Given the description of an element on the screen output the (x, y) to click on. 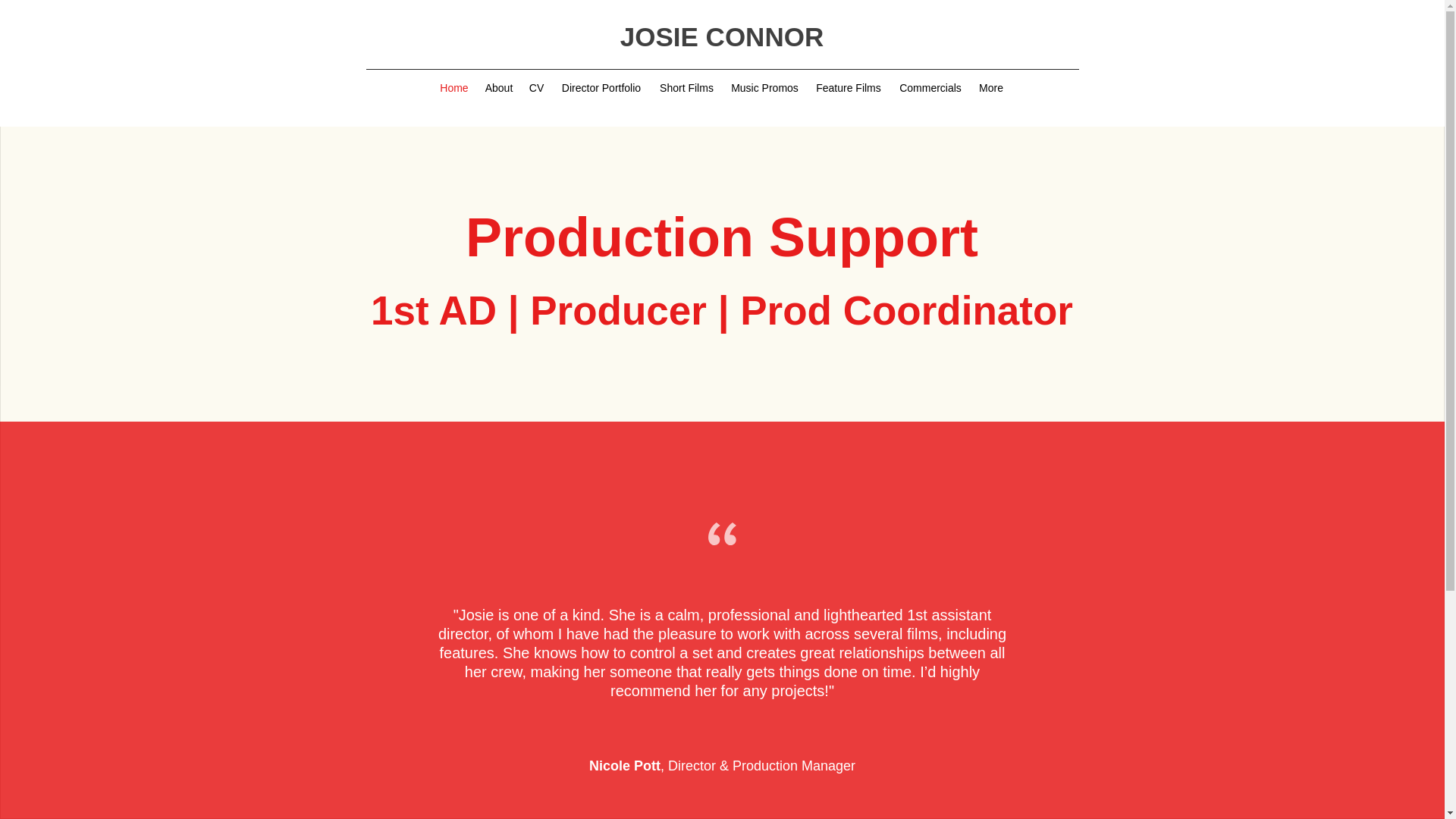
Music Promos (764, 87)
Director Portfolio (600, 87)
Feature Films (847, 87)
Short Films (686, 87)
CV (536, 87)
Commercials (930, 87)
About (498, 87)
Home (454, 87)
